Given the description of an element on the screen output the (x, y) to click on. 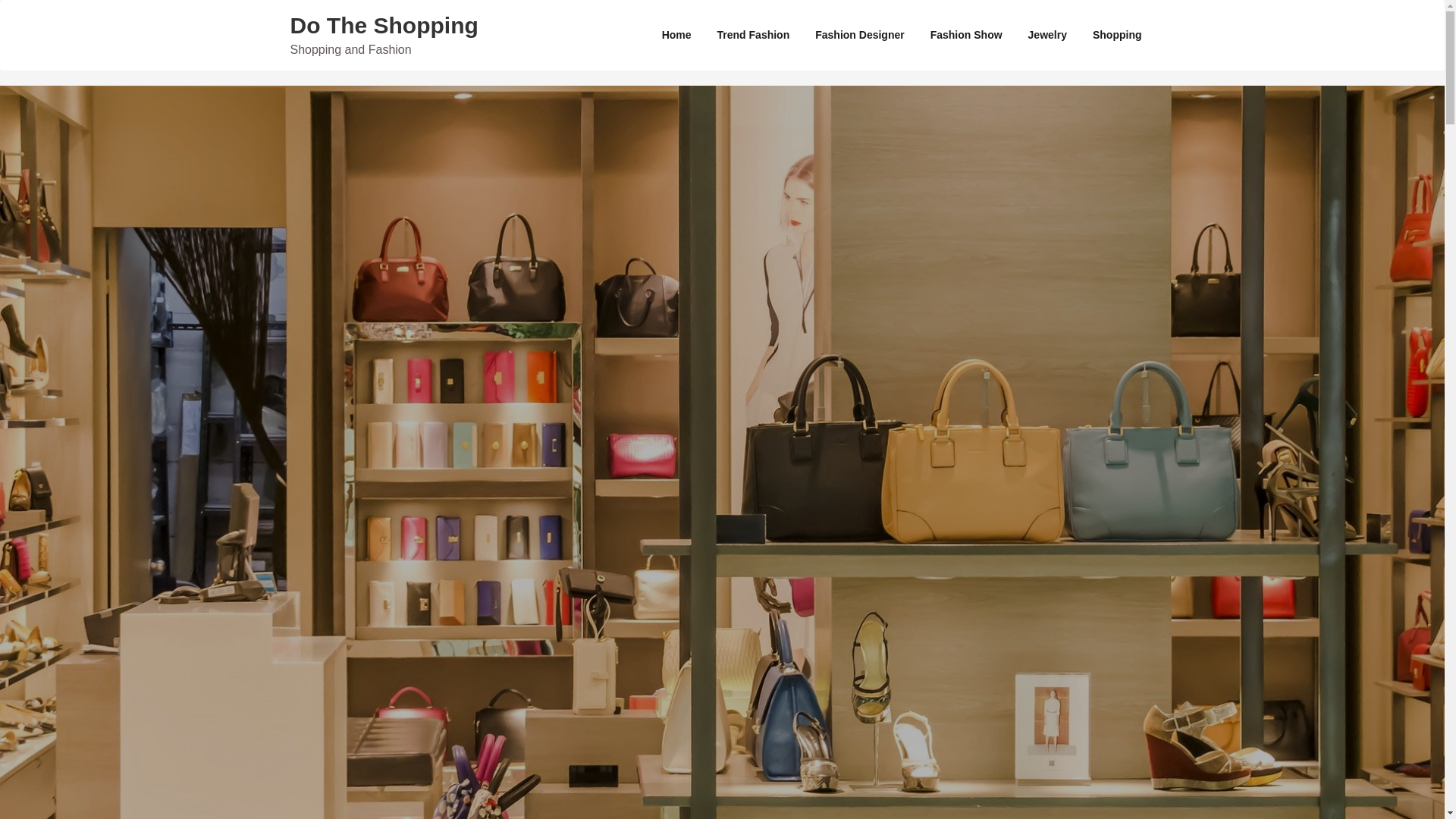
Do The Shopping (383, 25)
Fashion Designer (859, 34)
Jewelry (1047, 34)
Shopping (1117, 34)
Trend Fashion (753, 34)
Fashion Show (965, 34)
